Given the description of an element on the screen output the (x, y) to click on. 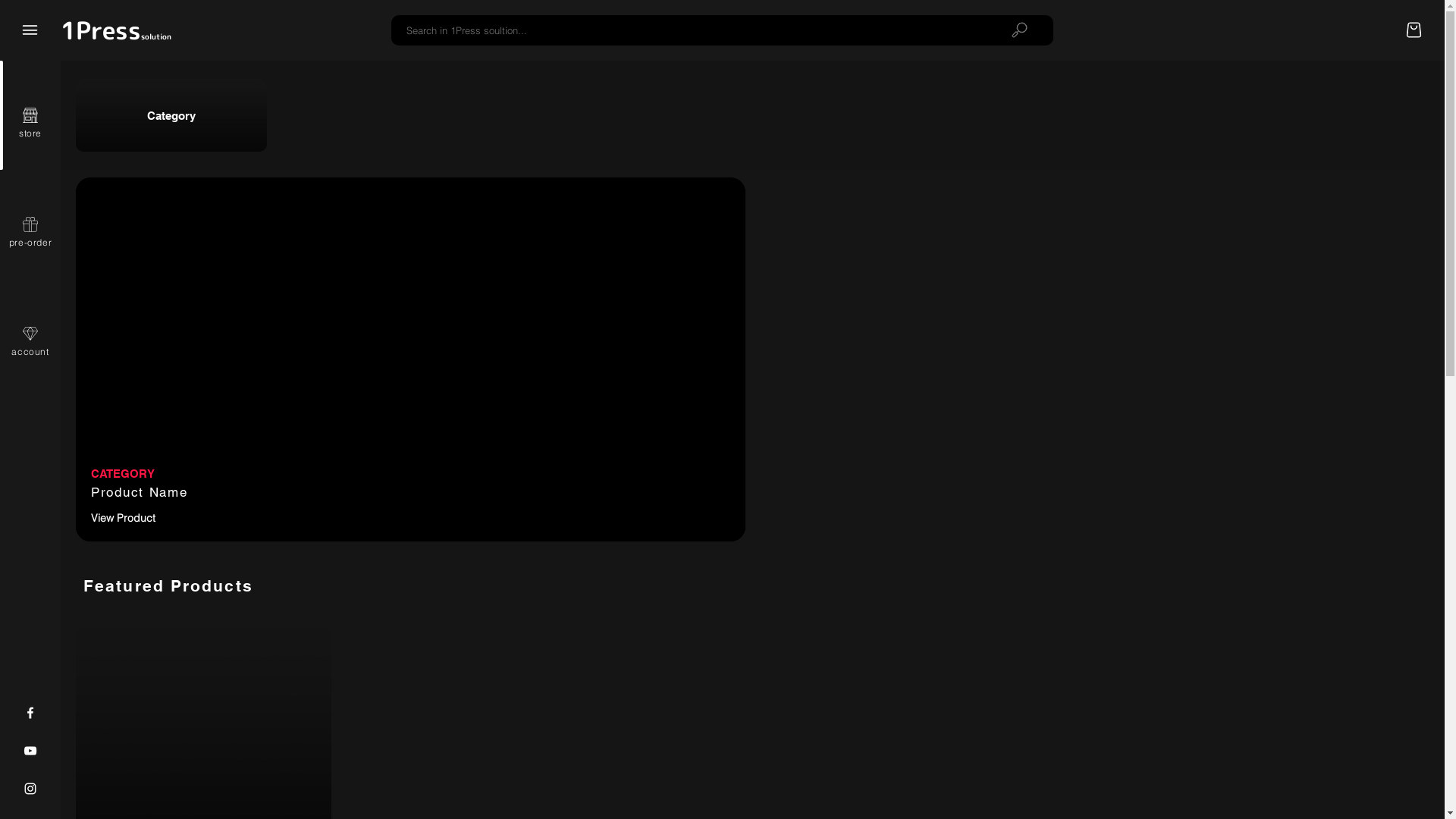
1Presssolution Element type: text (115, 30)
Search in 1Press soultion... Element type: text (688, 30)
